Given the description of an element on the screen output the (x, y) to click on. 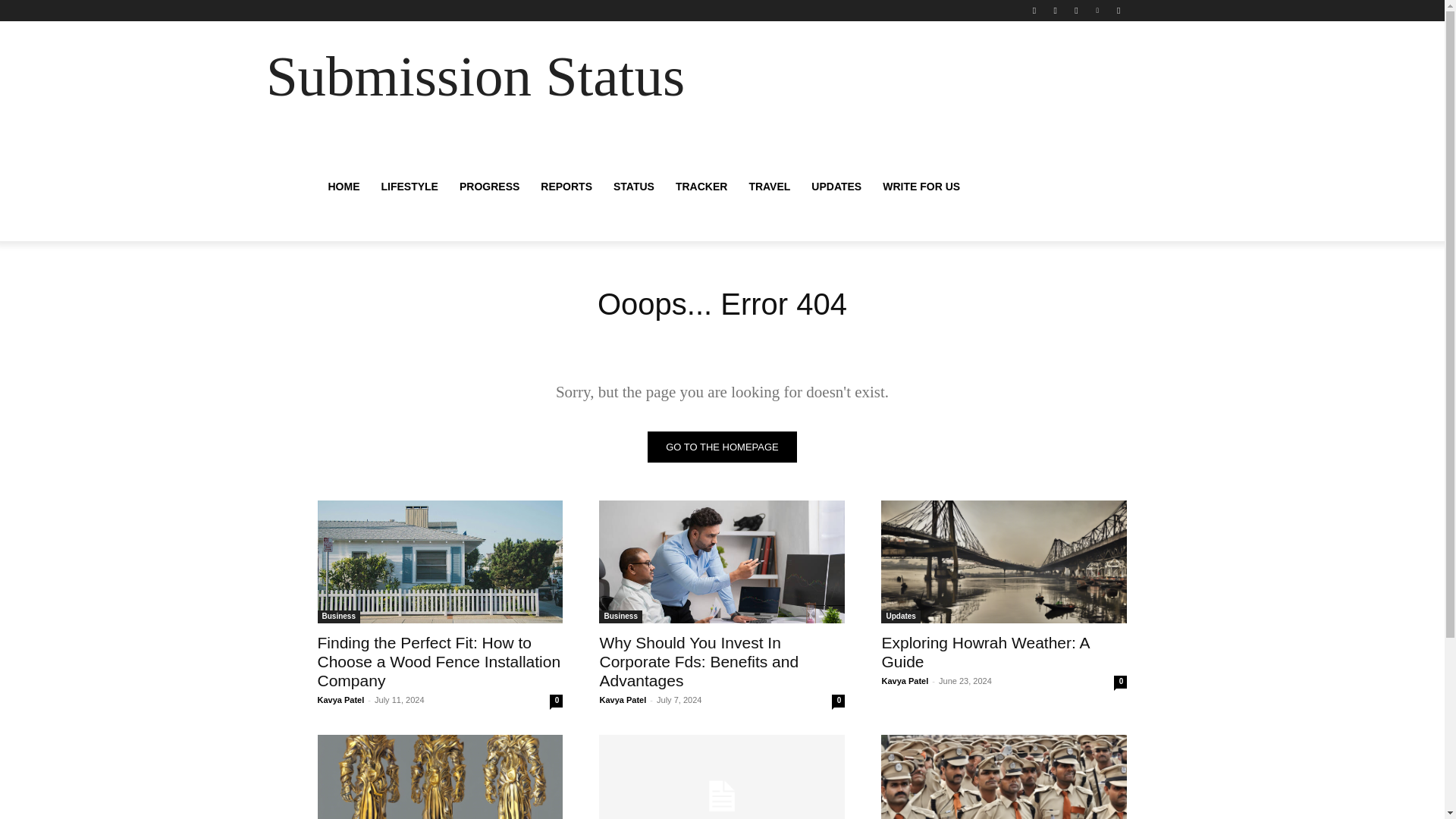
TRACKER (701, 186)
Submission Status (475, 76)
STATUS (633, 186)
Vimeo (1097, 9)
PROGRESS (488, 186)
LIFESTYLE (408, 186)
Facebook (1034, 9)
WRITE FOR US (921, 186)
GO TO THE HOMEPAGE (721, 446)
Youtube (1117, 9)
Business (338, 616)
UPDATES (836, 186)
